Given the description of an element on the screen output the (x, y) to click on. 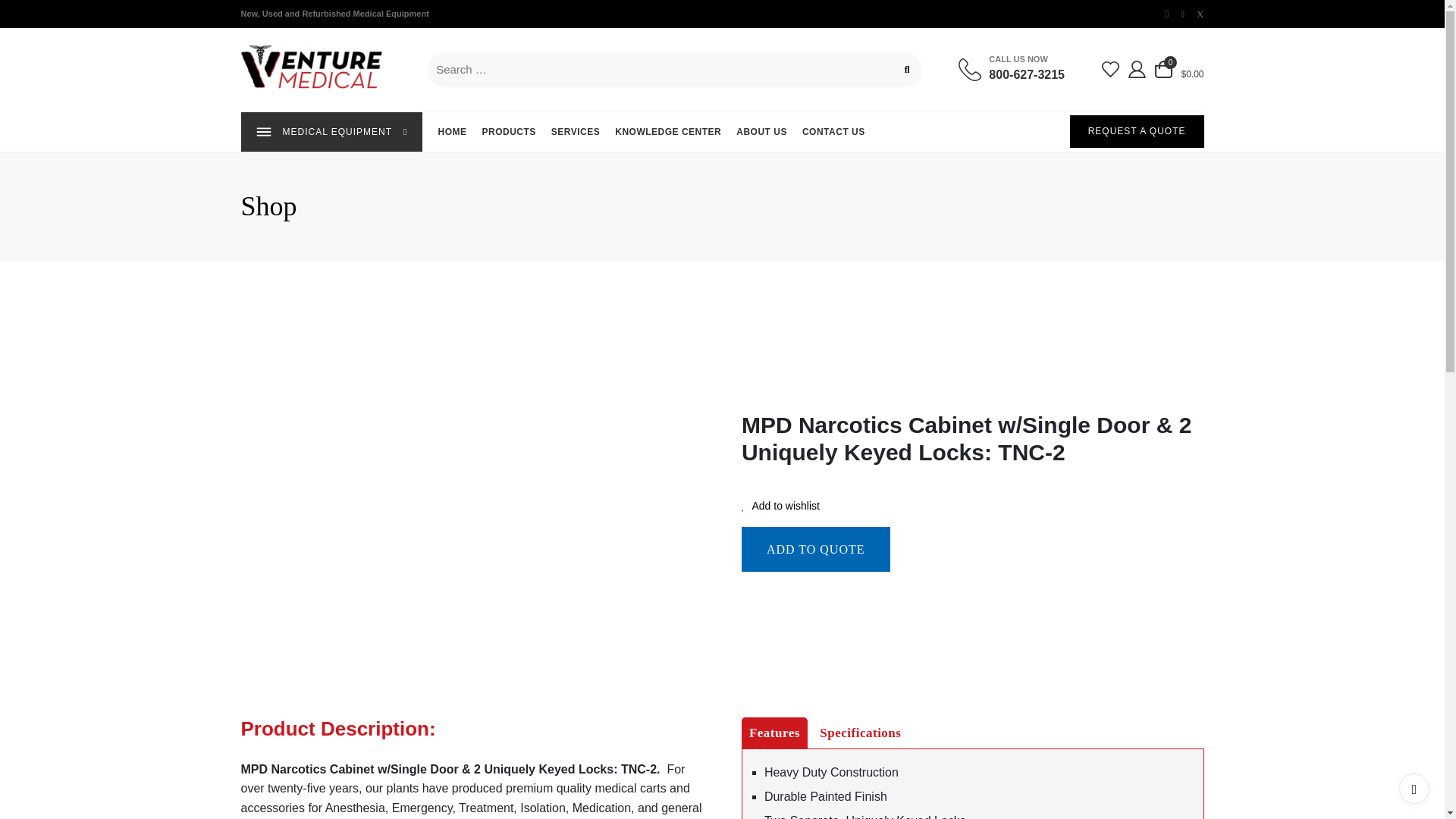
MEDICAL EQUIPMENT (1011, 68)
Search (332, 131)
My Account (246, 7)
